Given the description of an element on the screen output the (x, y) to click on. 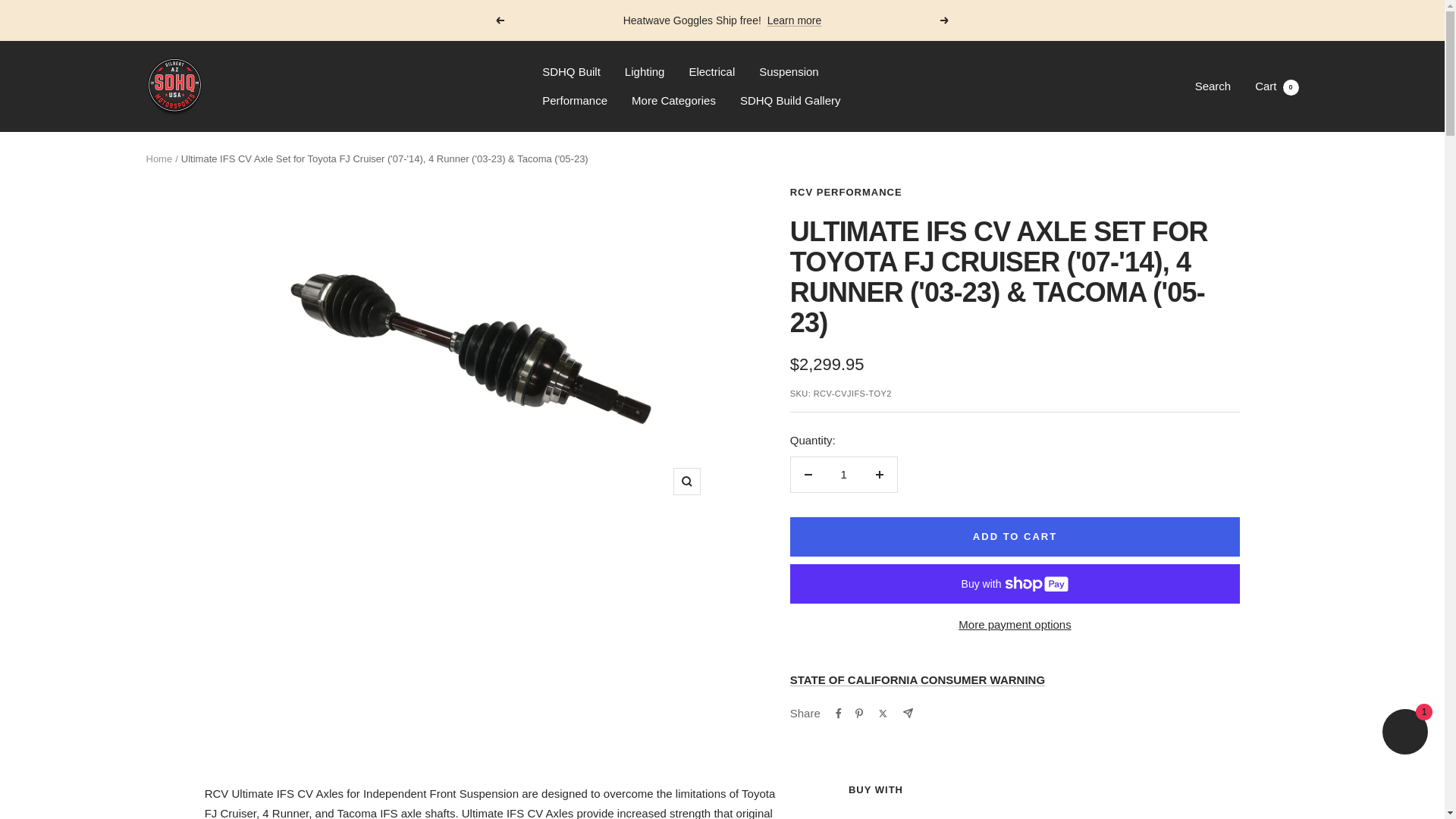
Home (158, 158)
SDHQ (173, 86)
STATE OF CALIFORNIA CONSUMER WARNING (917, 679)
ADD TO CART (1015, 536)
Zoom (686, 481)
RCV PERFORMANCE (846, 192)
Electrical (1276, 85)
Decrease quantity (711, 71)
SDHQ Build Gallery (807, 474)
More Categories (790, 100)
Previous (673, 100)
1 (499, 20)
Learn more (843, 474)
Increase quantity (794, 20)
